Given the description of an element on the screen output the (x, y) to click on. 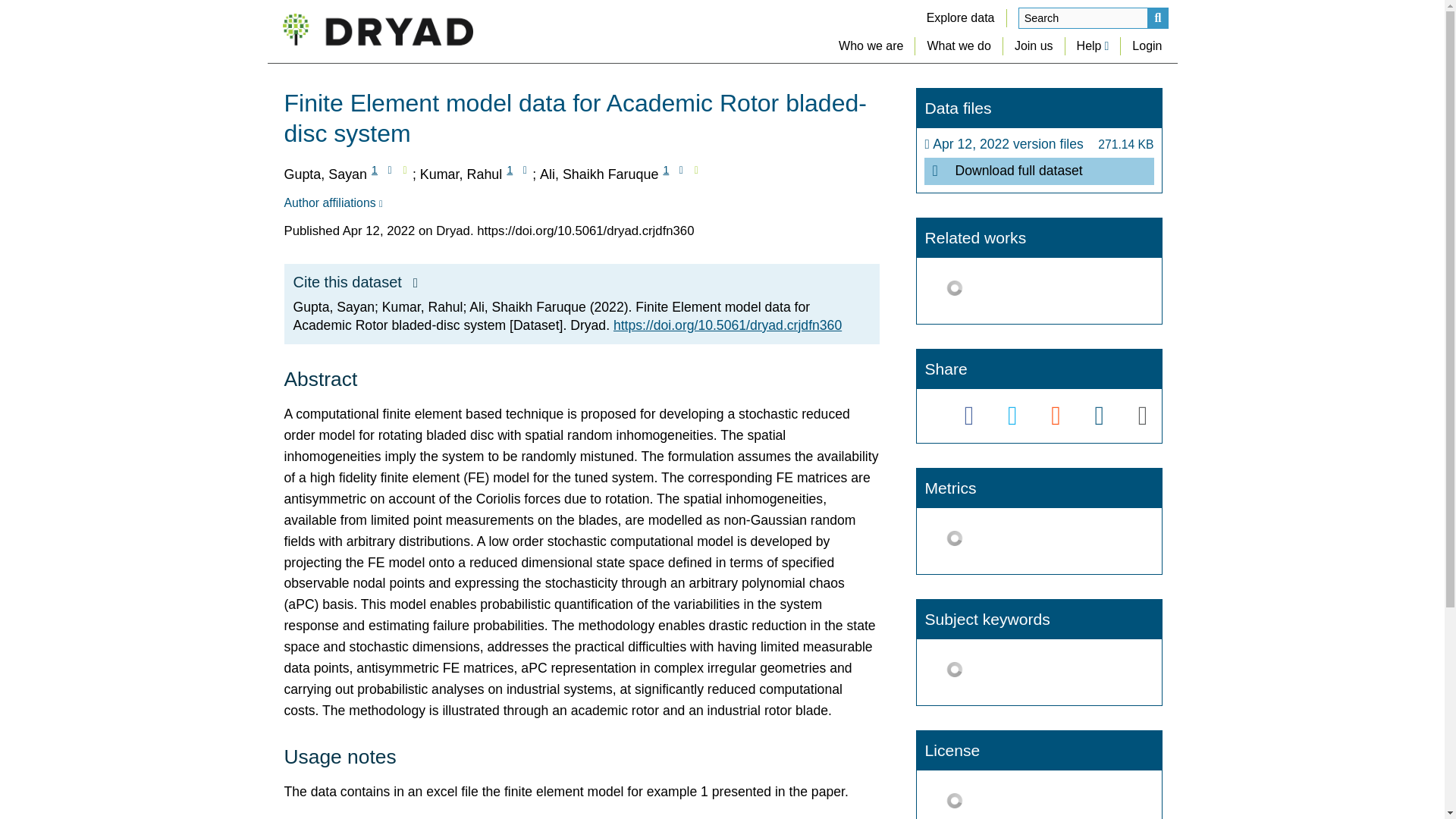
Author affiliations (332, 203)
Who we are (870, 45)
